Given the description of an element on the screen output the (x, y) to click on. 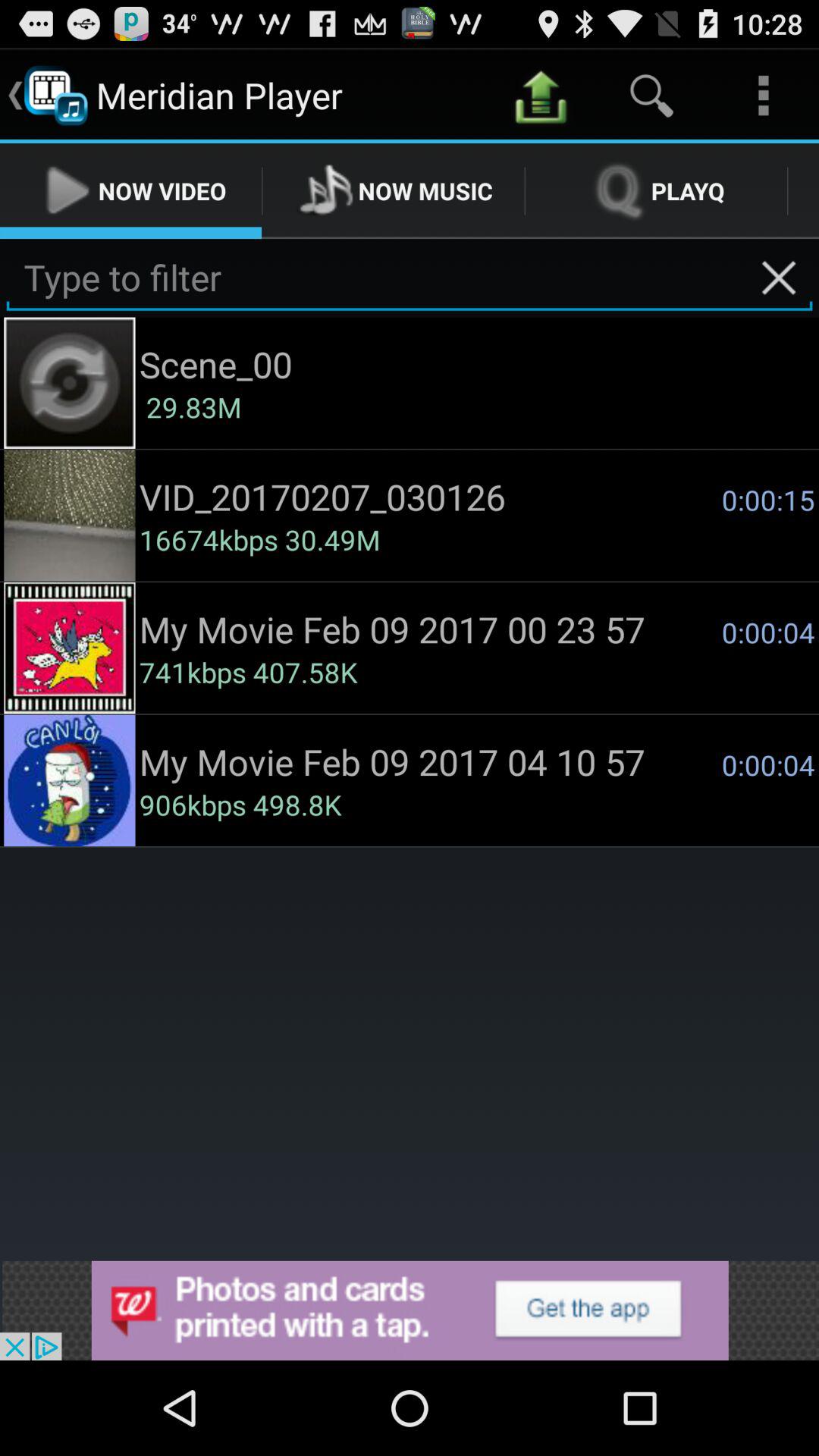
type to fliter (409, 277)
